Given the description of an element on the screen output the (x, y) to click on. 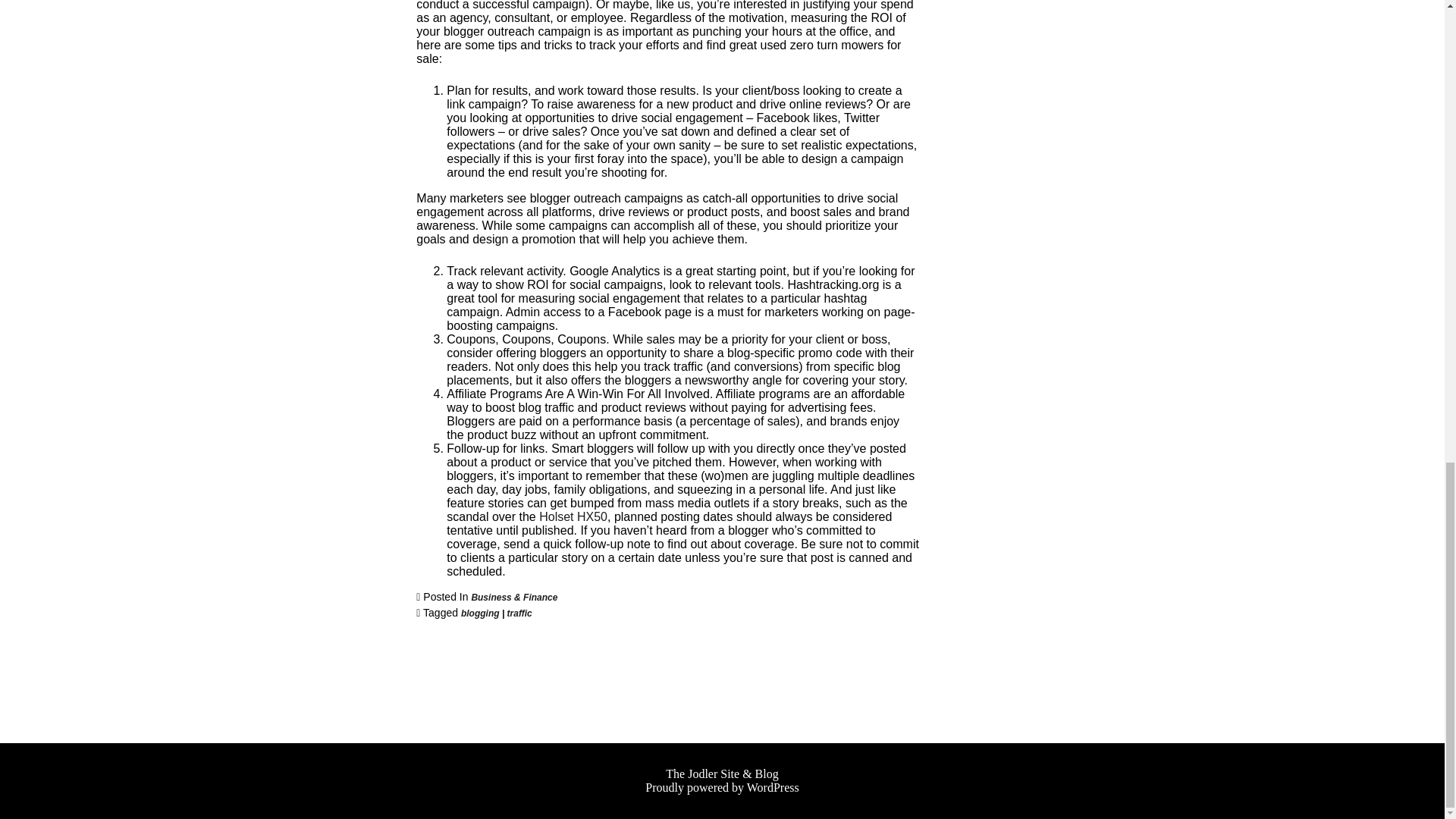
blogging (480, 613)
Holset HX50 (572, 516)
traffic (519, 613)
Proudly powered by WordPress (721, 787)
